Given the description of an element on the screen output the (x, y) to click on. 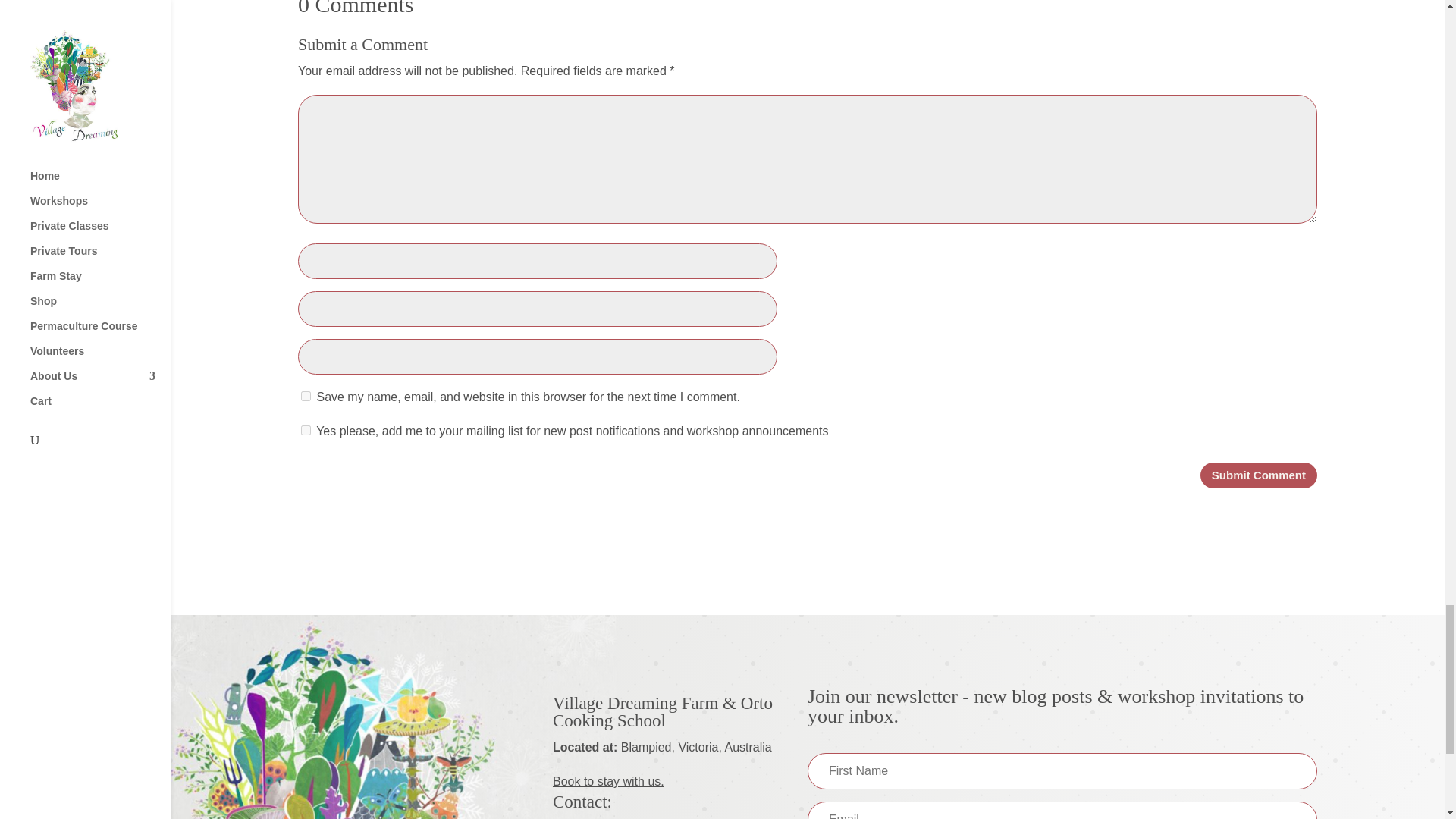
1 (306, 429)
yes (306, 396)
